Given the description of an element on the screen output the (x, y) to click on. 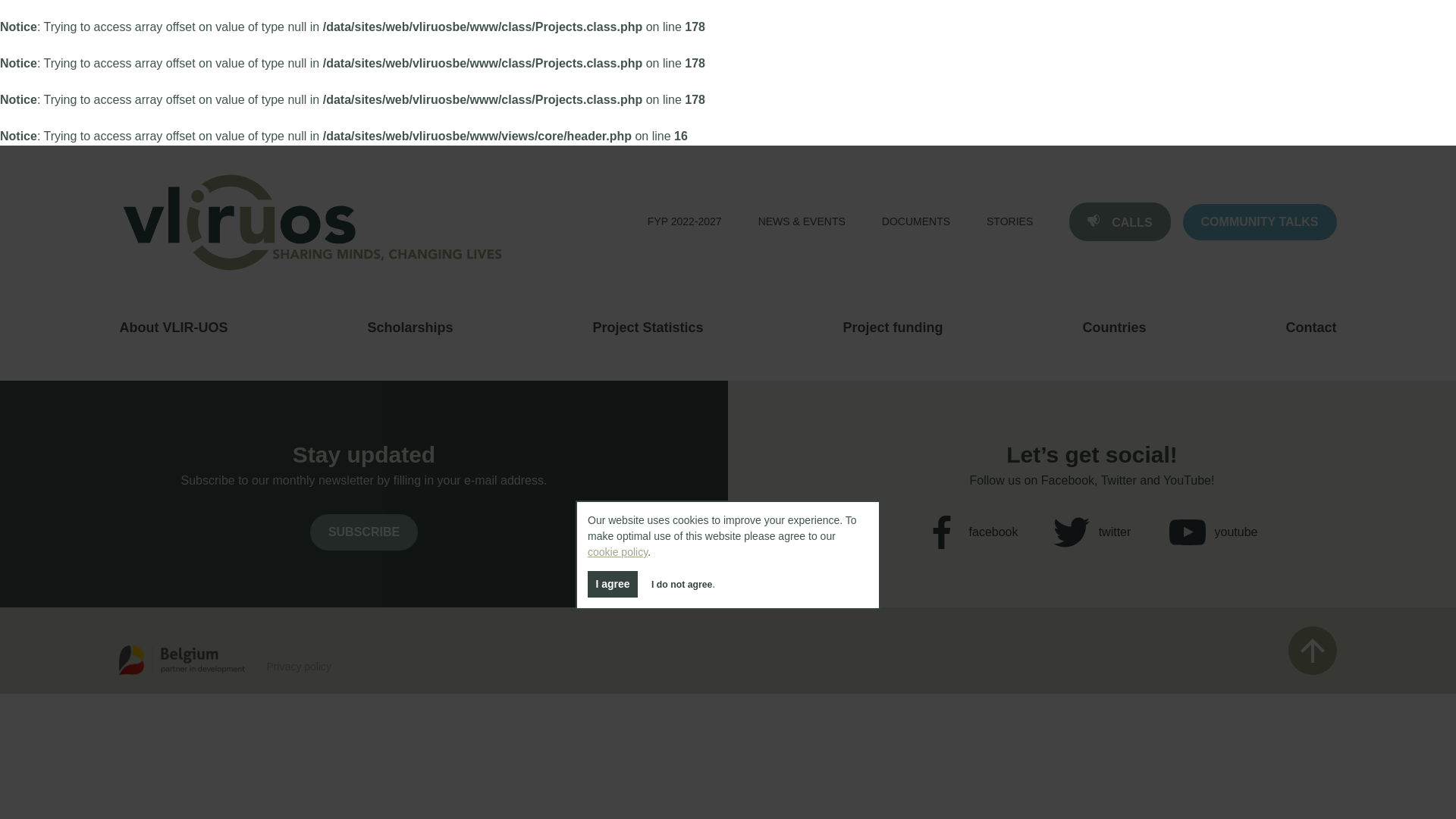
SUBSCRIBE (363, 532)
Countries (1115, 327)
I agree (612, 583)
facebook (970, 532)
Project Statistics (647, 327)
About VLIR-UOS (173, 327)
Scholarships (409, 327)
I do not agree (680, 584)
COMMUNITY TALKS (1259, 221)
youtube (1213, 532)
